Given the description of an element on the screen output the (x, y) to click on. 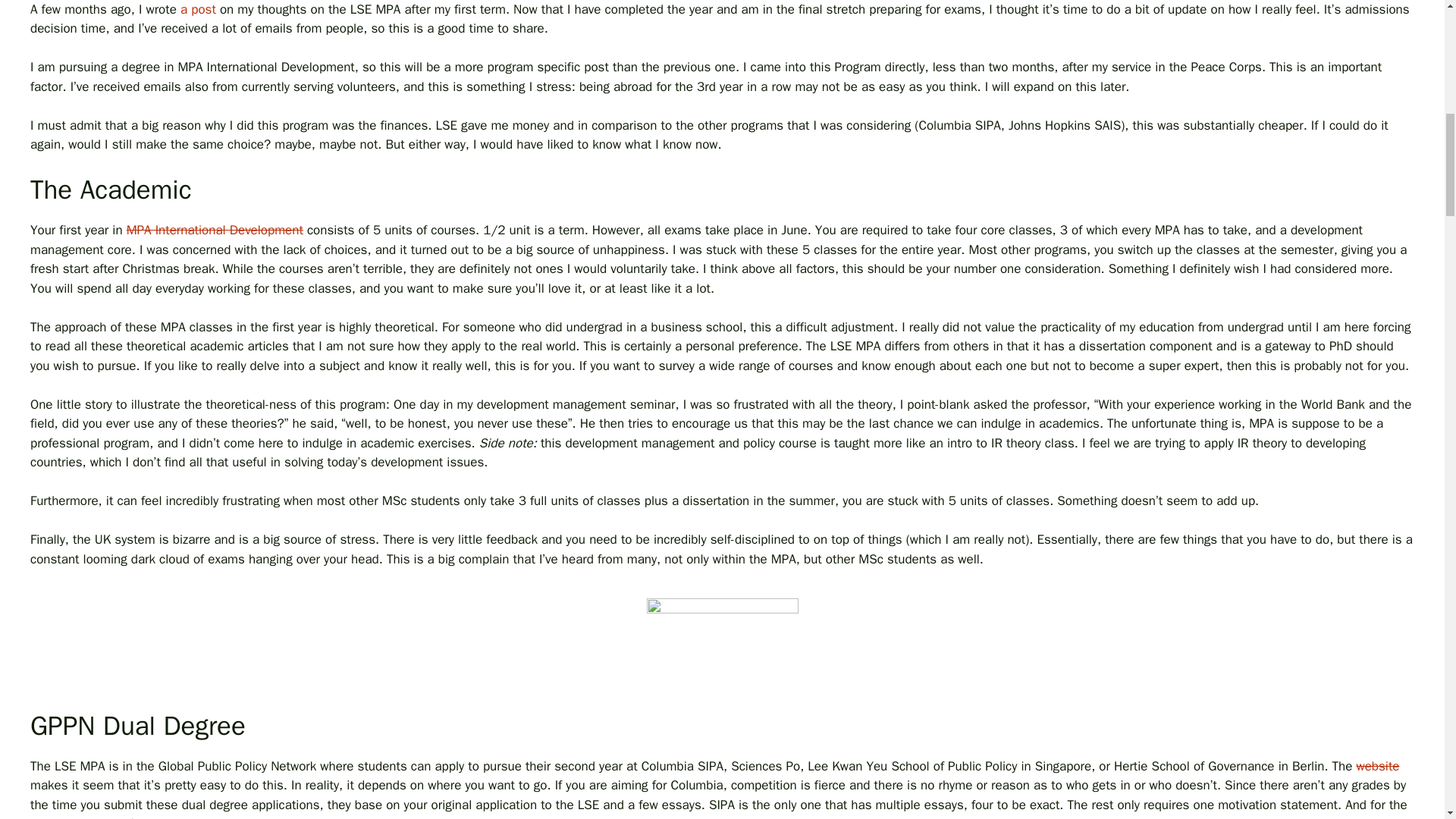
Scroll back to top (1406, 720)
